Given the description of an element on the screen output the (x, y) to click on. 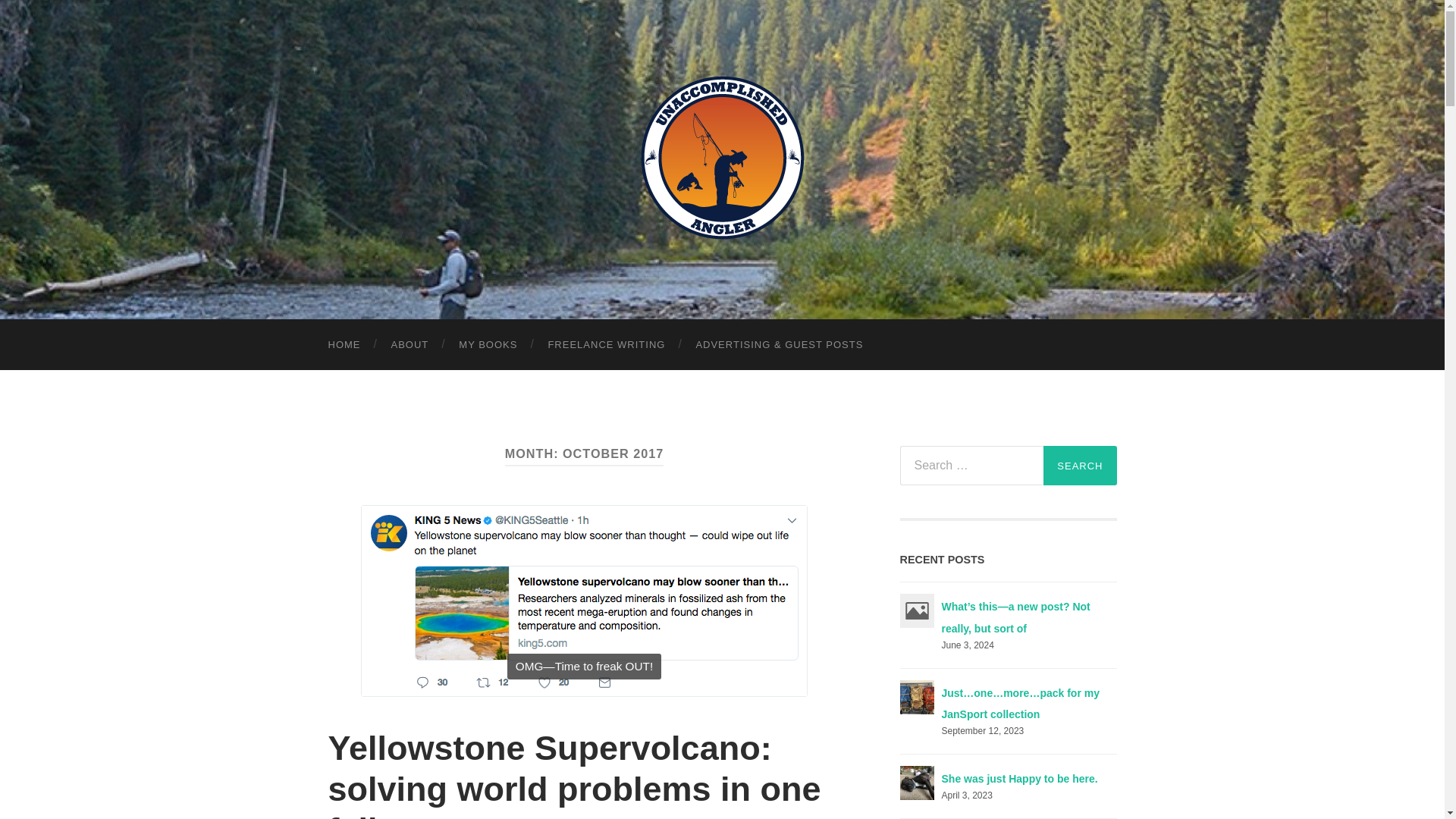
HOME (344, 344)
Search (1079, 465)
MY BOOKS (488, 344)
Search (1079, 465)
ABOUT (409, 344)
FREELANCE WRITING (605, 344)
Permalink to She was just Happy to be here. (1019, 778)
Unaccomplished Angler (721, 157)
